Given the description of an element on the screen output the (x, y) to click on. 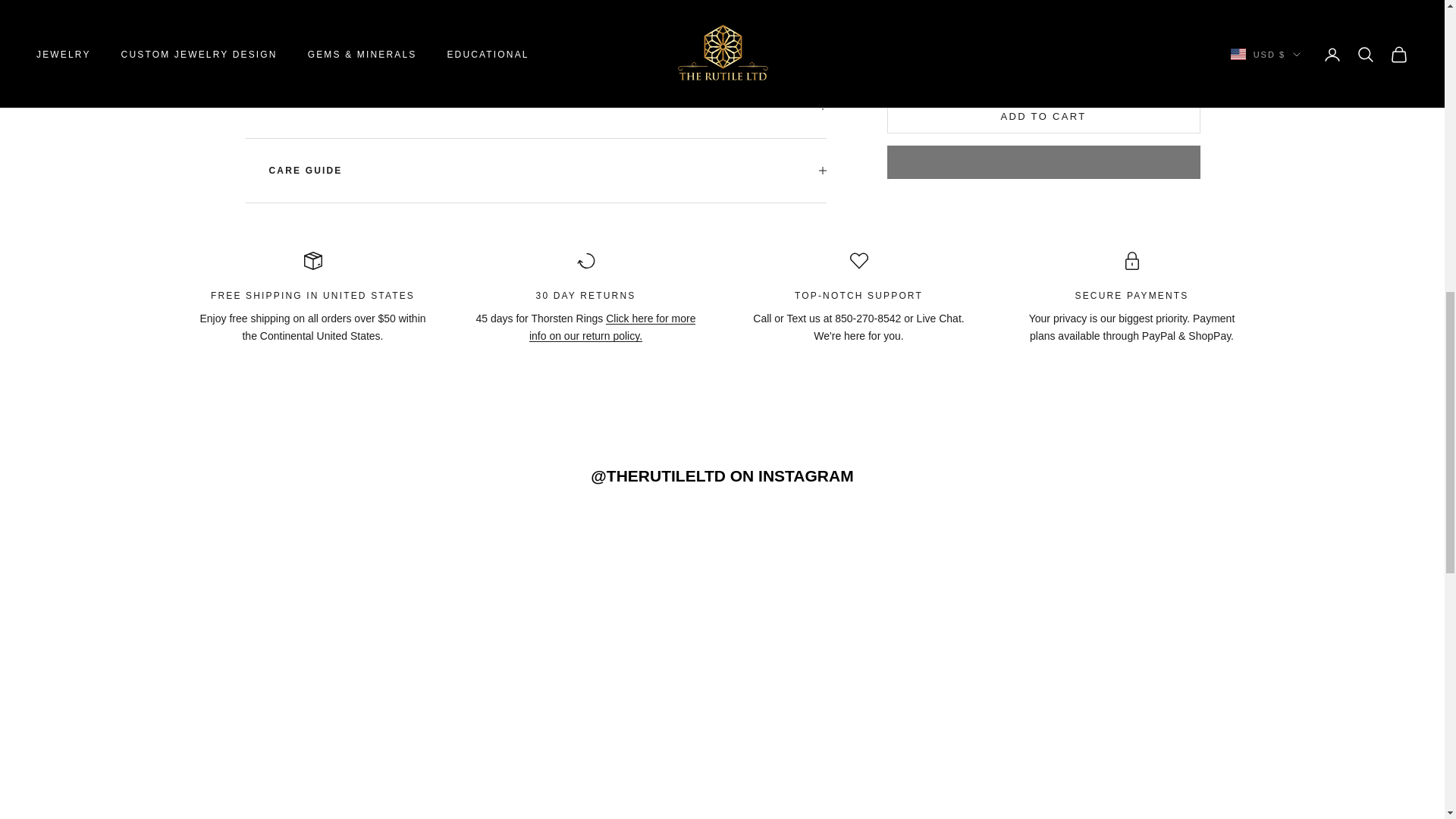
Refund Policy (534, 137)
